Given the description of an element on the screen output the (x, y) to click on. 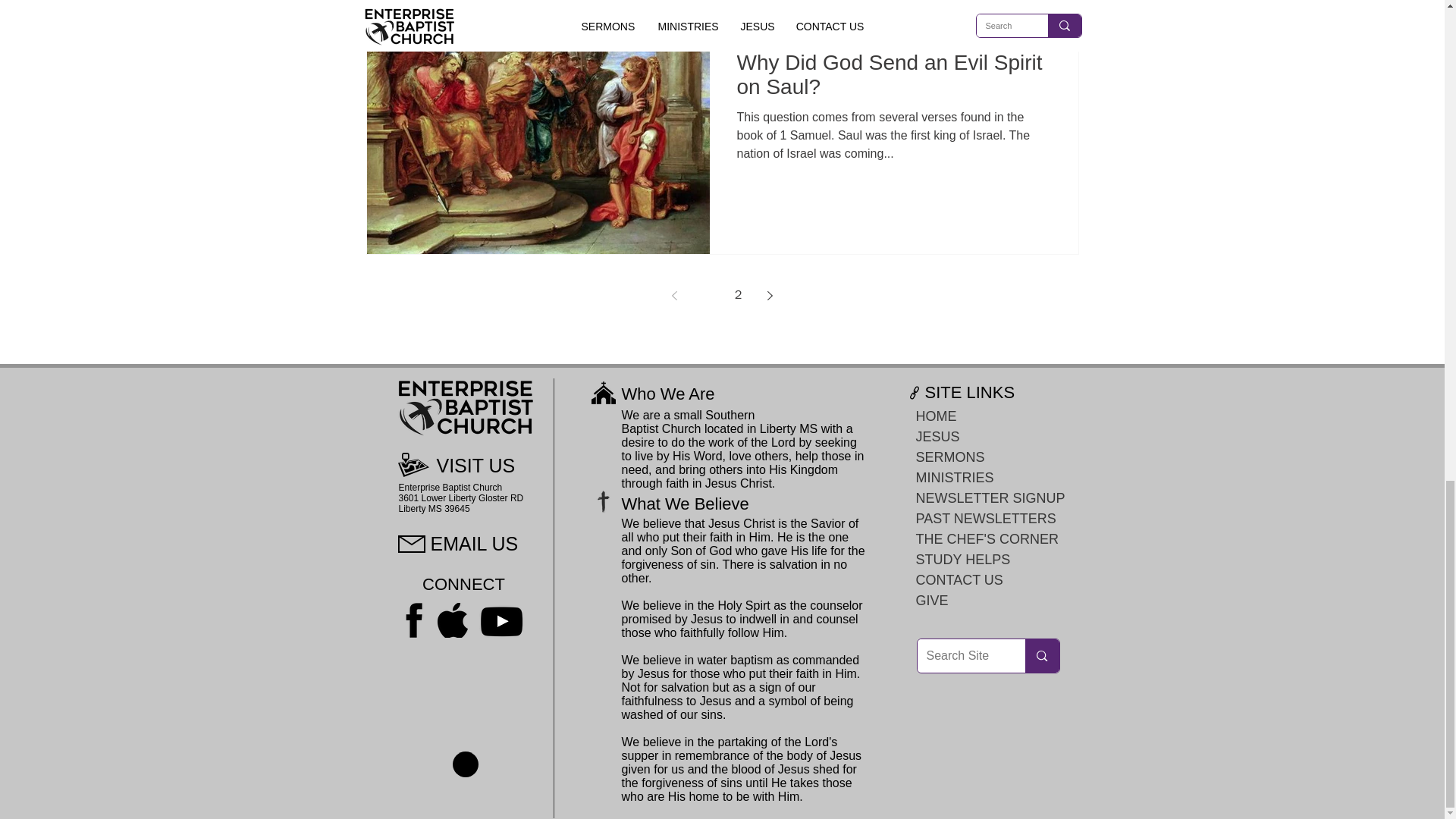
2 (738, 295)
EBC Thicker Logo.png (464, 407)
EMAIL US (474, 543)
VISIT US (475, 465)
Why Did God Send an Evil Spirit on Saul? (893, 78)
PAST NEWSLETTERS (979, 518)
SERMONS (979, 457)
Enterprise Baptsit Church (820, 22)
3601 Lower Liberty Gloster RD Liberty MS 39645 (461, 503)
HOME (979, 416)
